Given the description of an element on the screen output the (x, y) to click on. 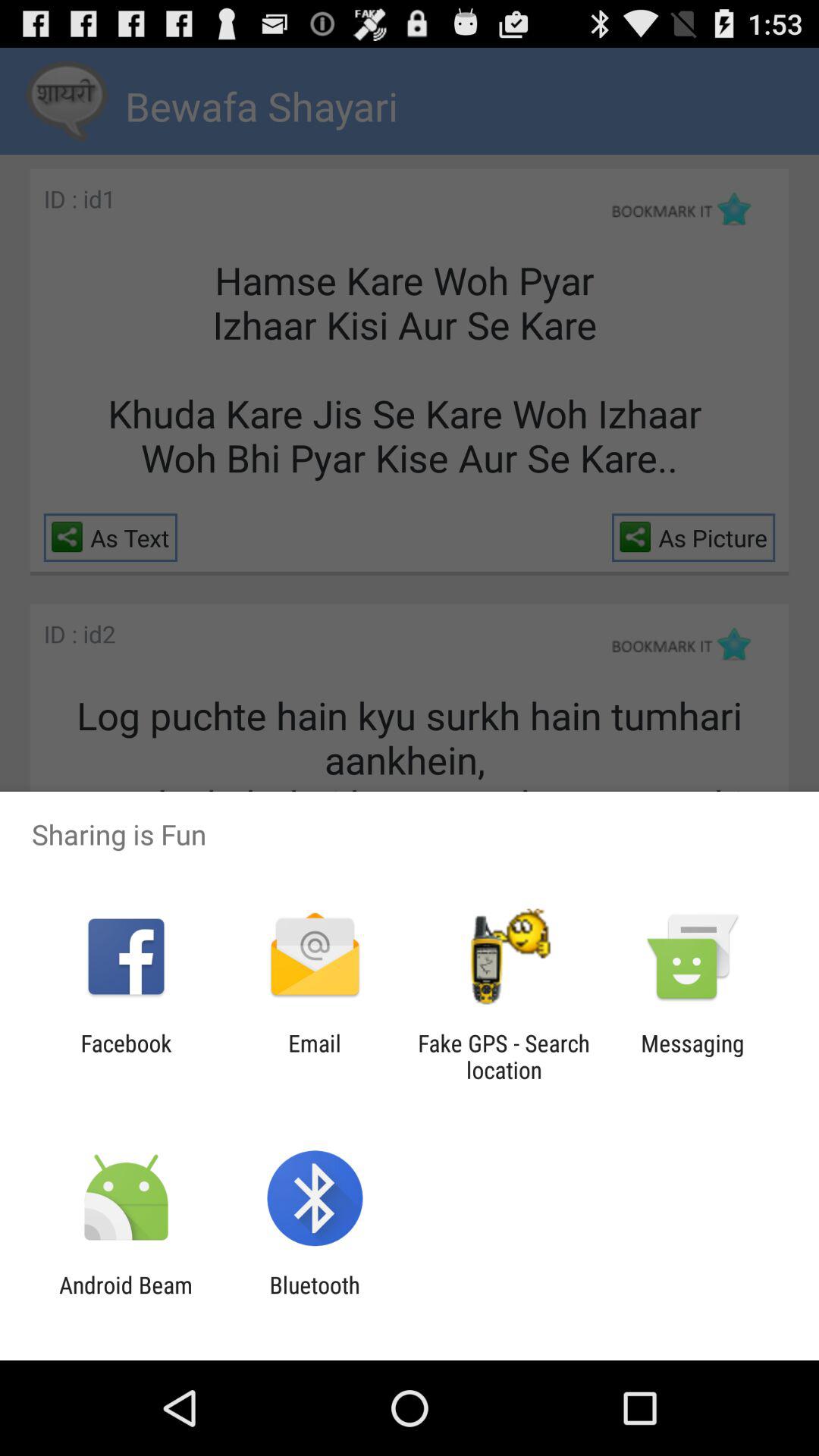
scroll to bluetooth (314, 1298)
